Given the description of an element on the screen output the (x, y) to click on. 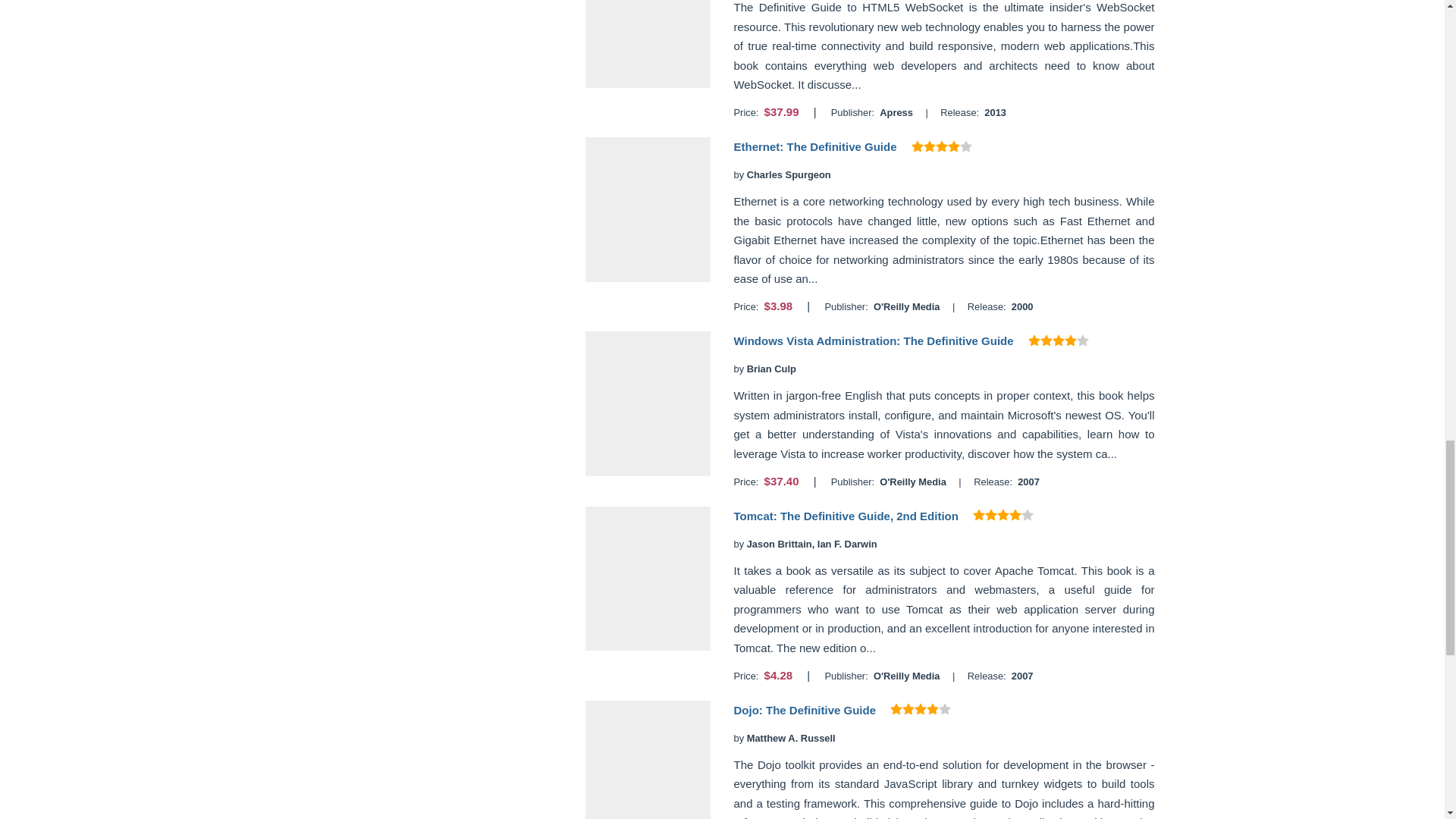
Ethernet: The Definitive Guide (814, 146)
Windows Vista Administration: The Definitive Guide (873, 340)
Tomcat: The Definitive Guide, 2nd Edition (845, 515)
Dojo: The Definitive Guide (804, 709)
